Given the description of an element on the screen output the (x, y) to click on. 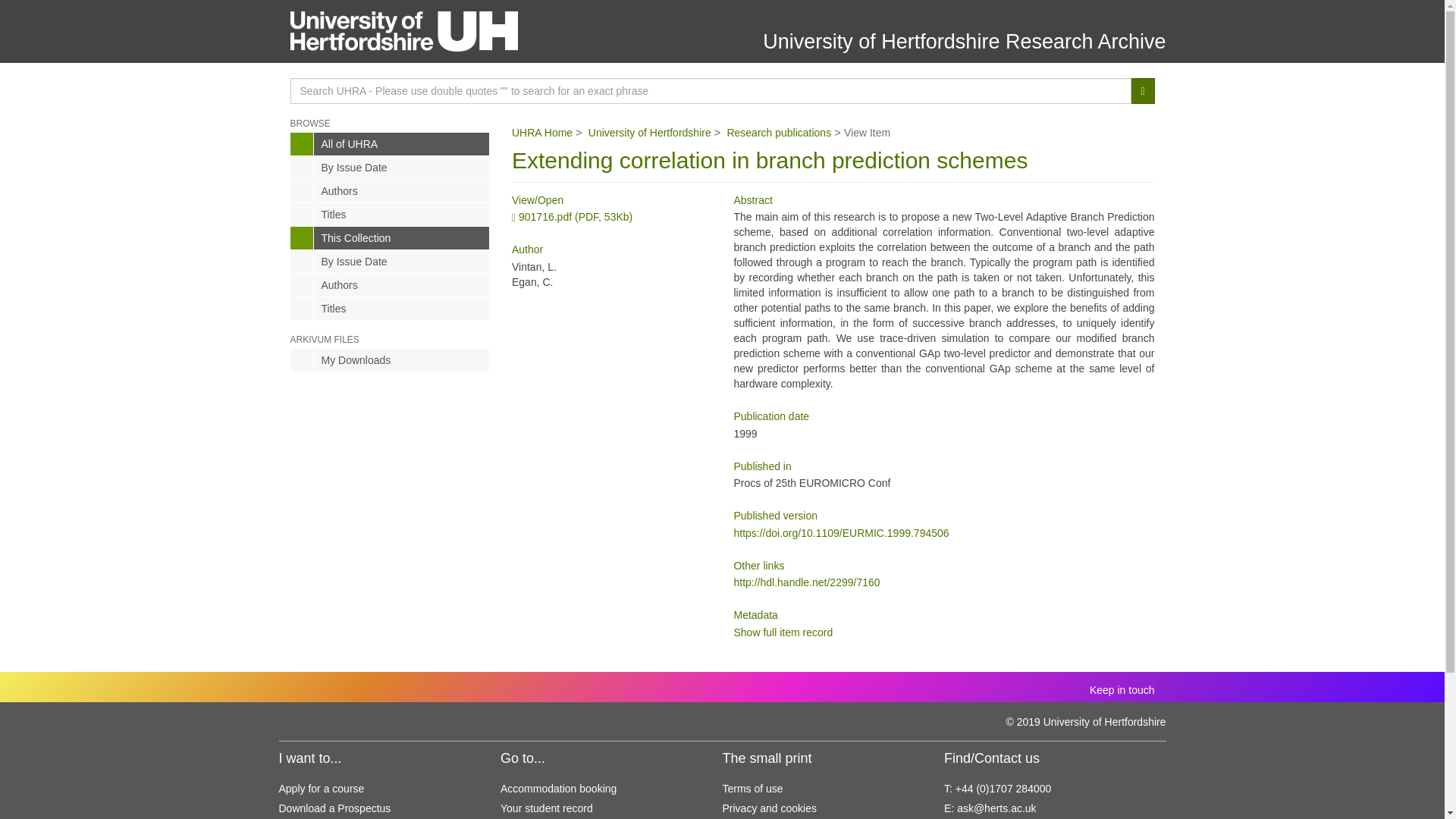
My Downloads (389, 359)
Titles (389, 308)
Authors (389, 190)
All of UHRA (389, 143)
Go (1142, 90)
Apply for a course (322, 788)
University of Hertfordshire (649, 132)
Show full item record (782, 632)
Privacy and cookies (769, 808)
Accommodation booking (557, 788)
UHRA Home (542, 132)
Your student record (546, 808)
Research publications (778, 132)
Download a Prospectus (335, 808)
This Collection (389, 237)
